Given the description of an element on the screen output the (x, y) to click on. 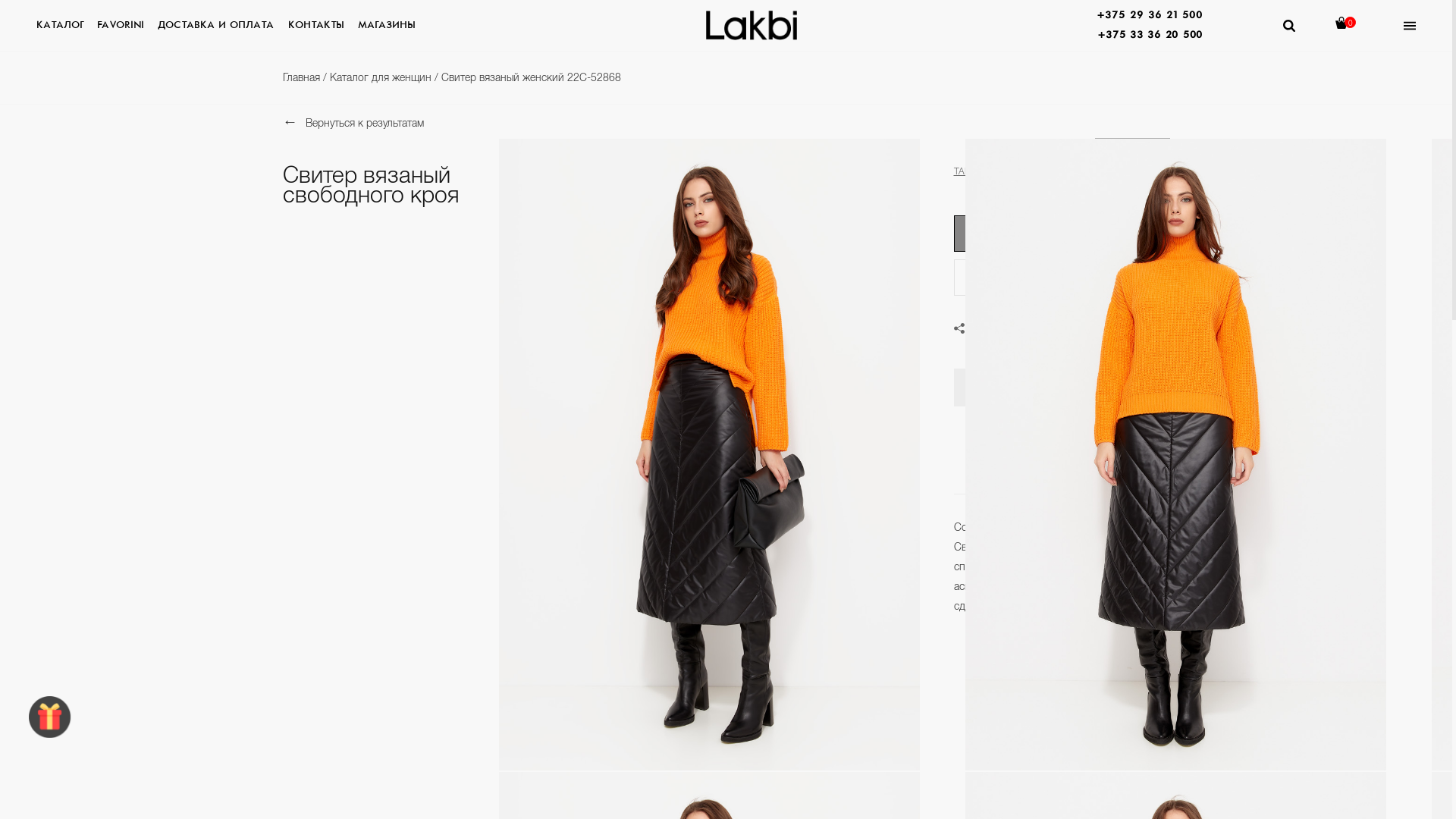
+375 33 36 20 500 Element type: text (1150, 35)
> Element type: text (1150, 156)
+375 29 36 21 500 Element type: text (1149, 15)
FAVORINI Element type: text (120, 27)
< Element type: text (1113, 156)
